Given the description of an element on the screen output the (x, y) to click on. 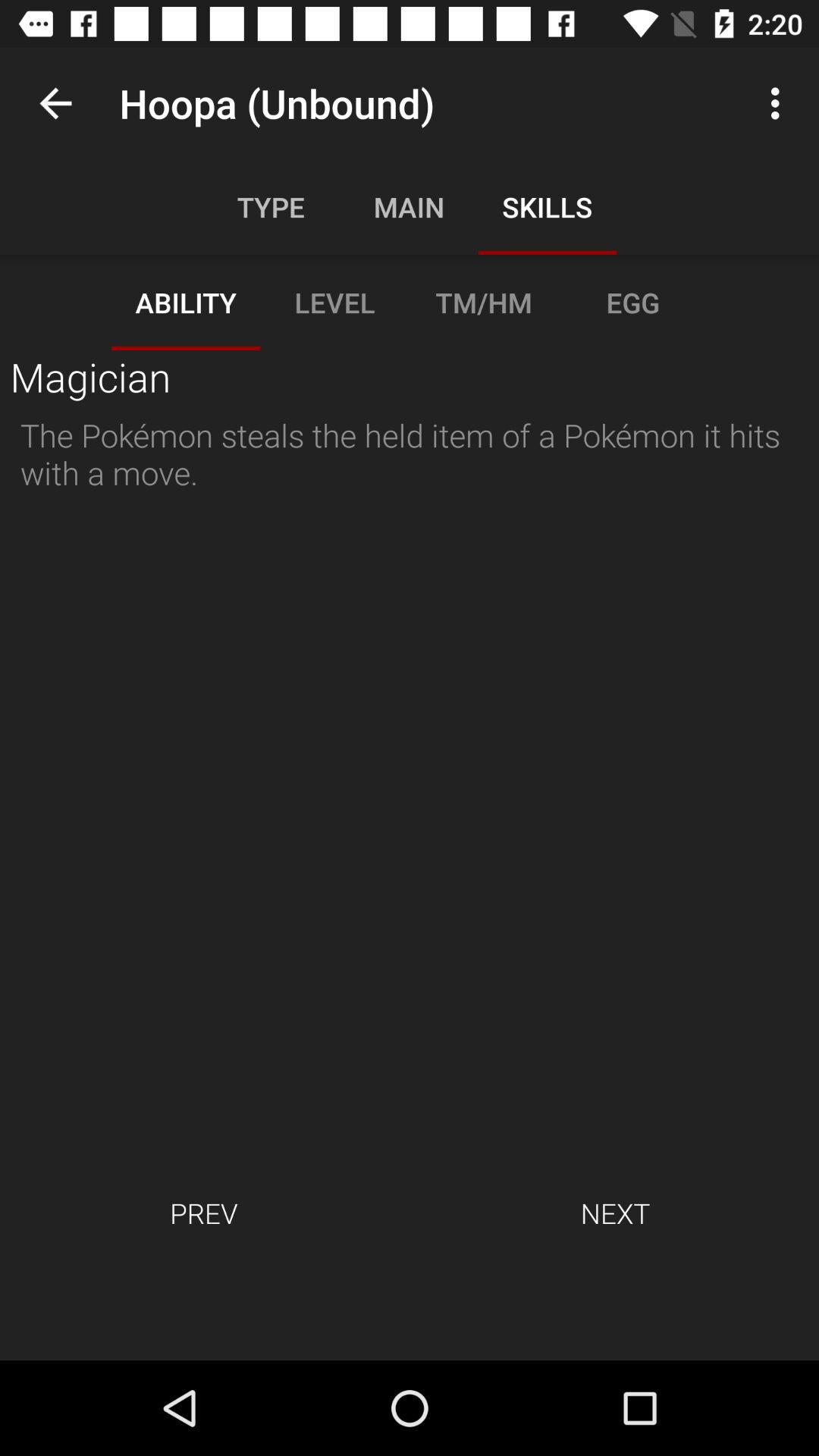
launch icon next to the next item (203, 1212)
